Given the description of an element on the screen output the (x, y) to click on. 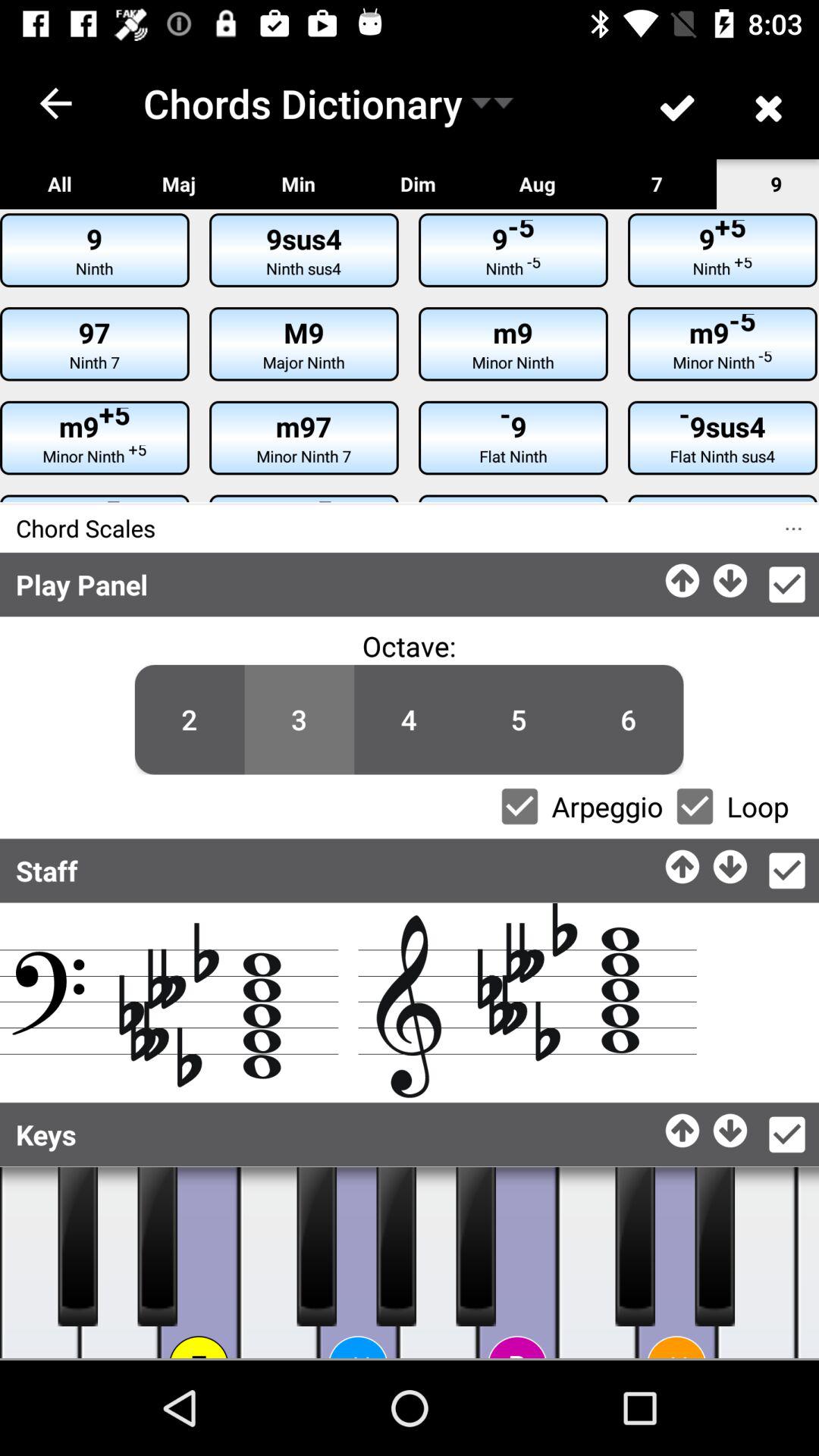
this music key button (437, 1262)
